Given the description of an element on the screen output the (x, y) to click on. 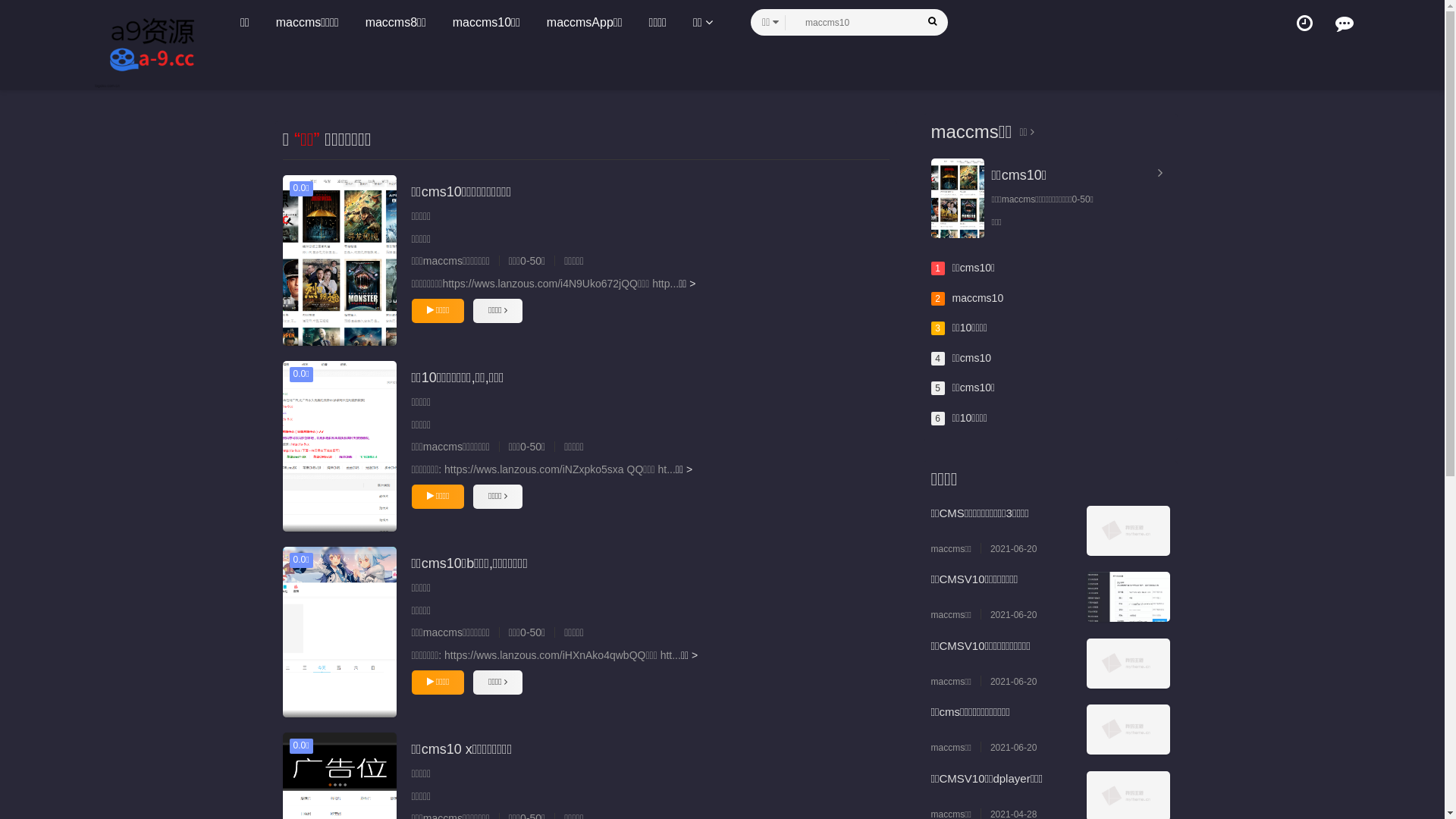
2maccms10 Element type: text (1050, 298)
